Given the description of an element on the screen output the (x, y) to click on. 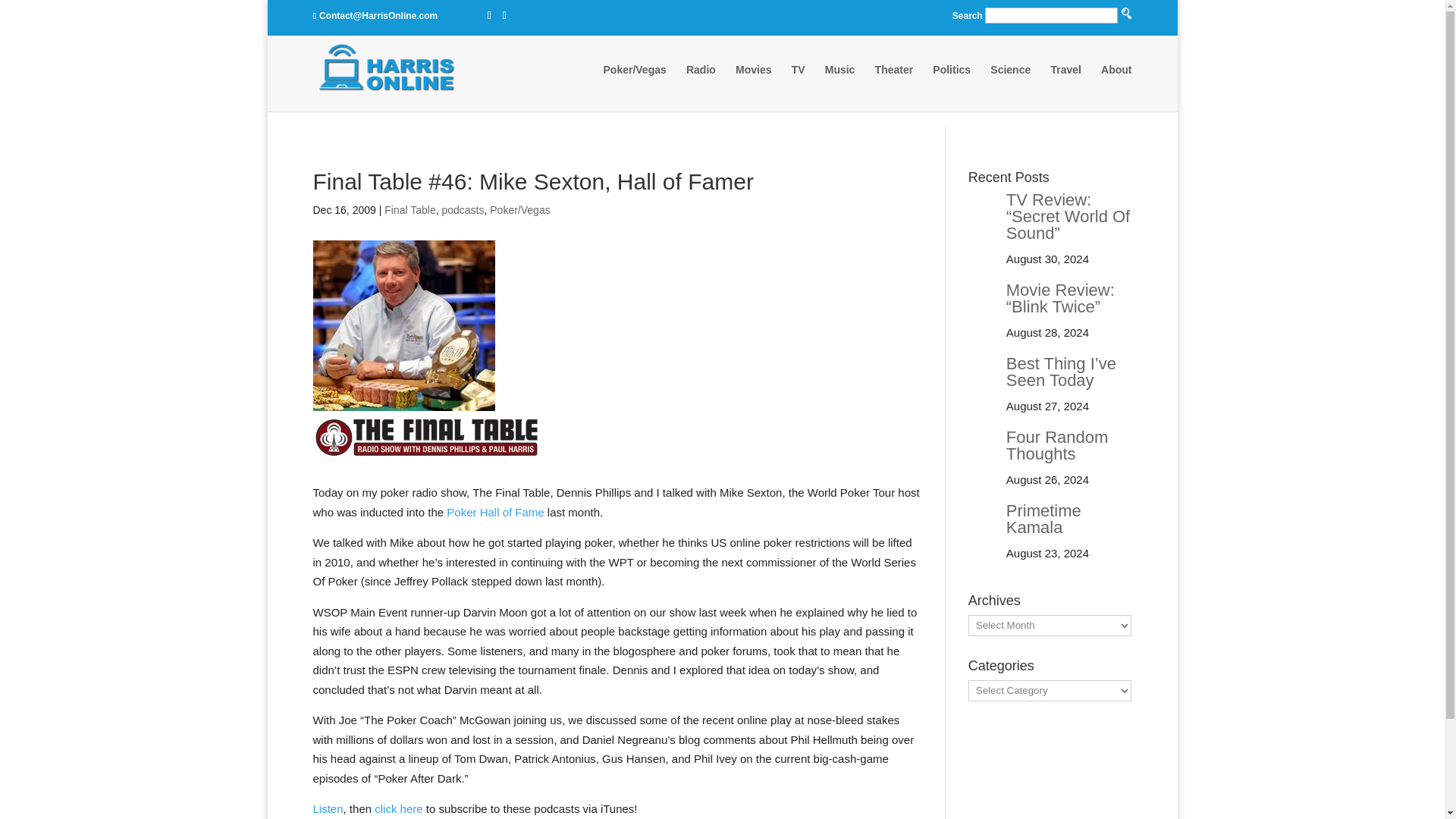
Theater (894, 84)
Search (790, 128)
Movies (753, 84)
Poker Hall of Fame (494, 512)
Four Random Thoughts (1057, 445)
Primetime Kamala (1043, 519)
podcasts (462, 209)
Listen (327, 808)
Politics (952, 84)
Final Table (409, 209)
